Given the description of an element on the screen output the (x, y) to click on. 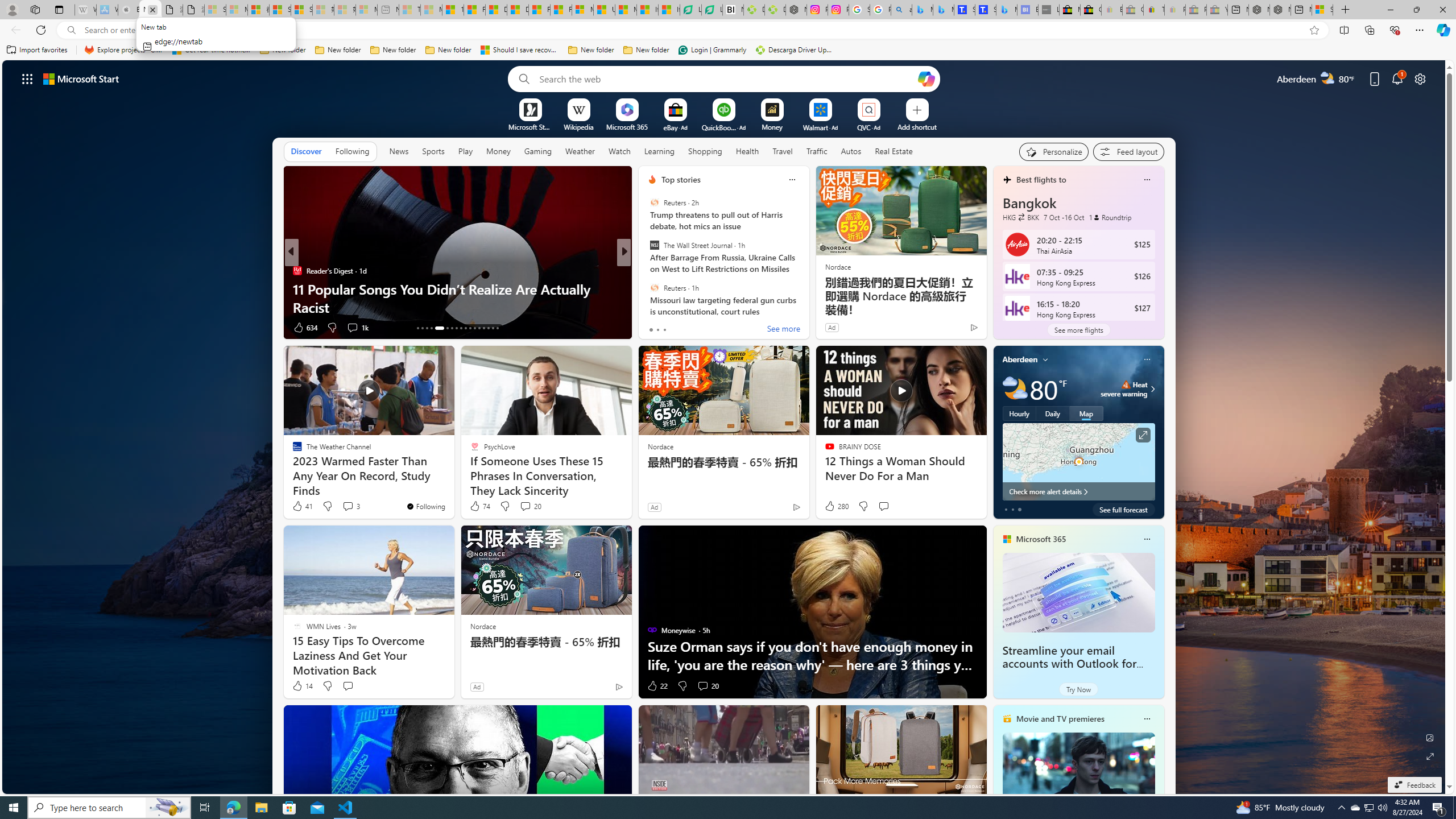
Nvidia va a poner a prueba la paciencia de los inversores (732, 9)
Edit Background (1430, 737)
AutomationID: tab-42 (483, 328)
View comments 44 Comment (703, 327)
Reuters (654, 287)
Newsweek (647, 270)
Add a site (916, 126)
Should I save recovered Word documents? - Microsoft Support (519, 49)
Expand background (1430, 756)
